Given the description of an element on the screen output the (x, y) to click on. 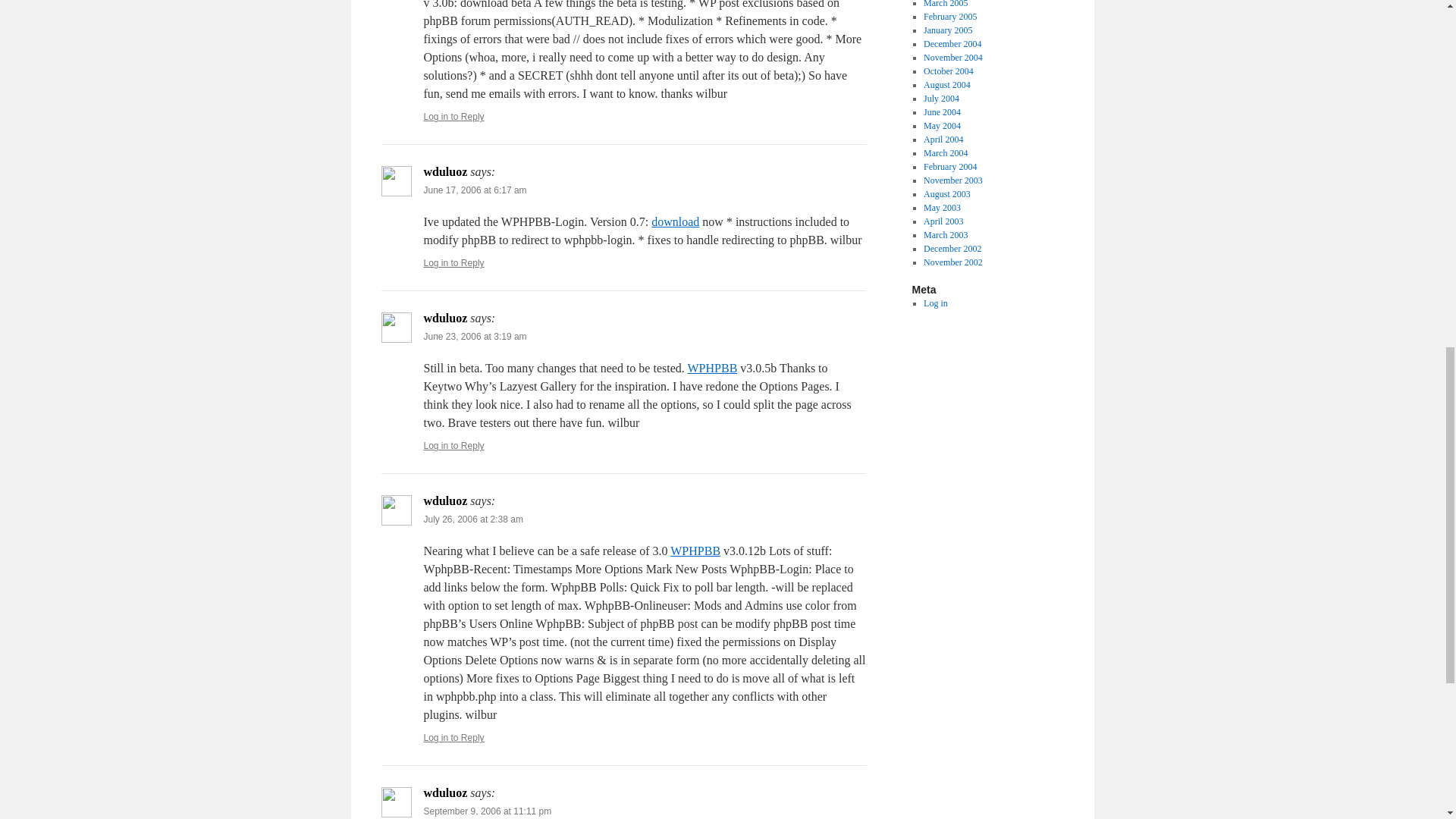
Log in to Reply (453, 262)
July 26, 2006 at 2:38 am (472, 519)
WPHPBB (711, 367)
Log in to Reply (453, 737)
Log in to Reply (453, 116)
June 17, 2006 at 6:17 am (474, 190)
WPHPBB (694, 550)
June 23, 2006 at 3:19 am (474, 336)
Log in to Reply (453, 445)
September 9, 2006 at 11:11 pm (487, 810)
